Given the description of an element on the screen output the (x, y) to click on. 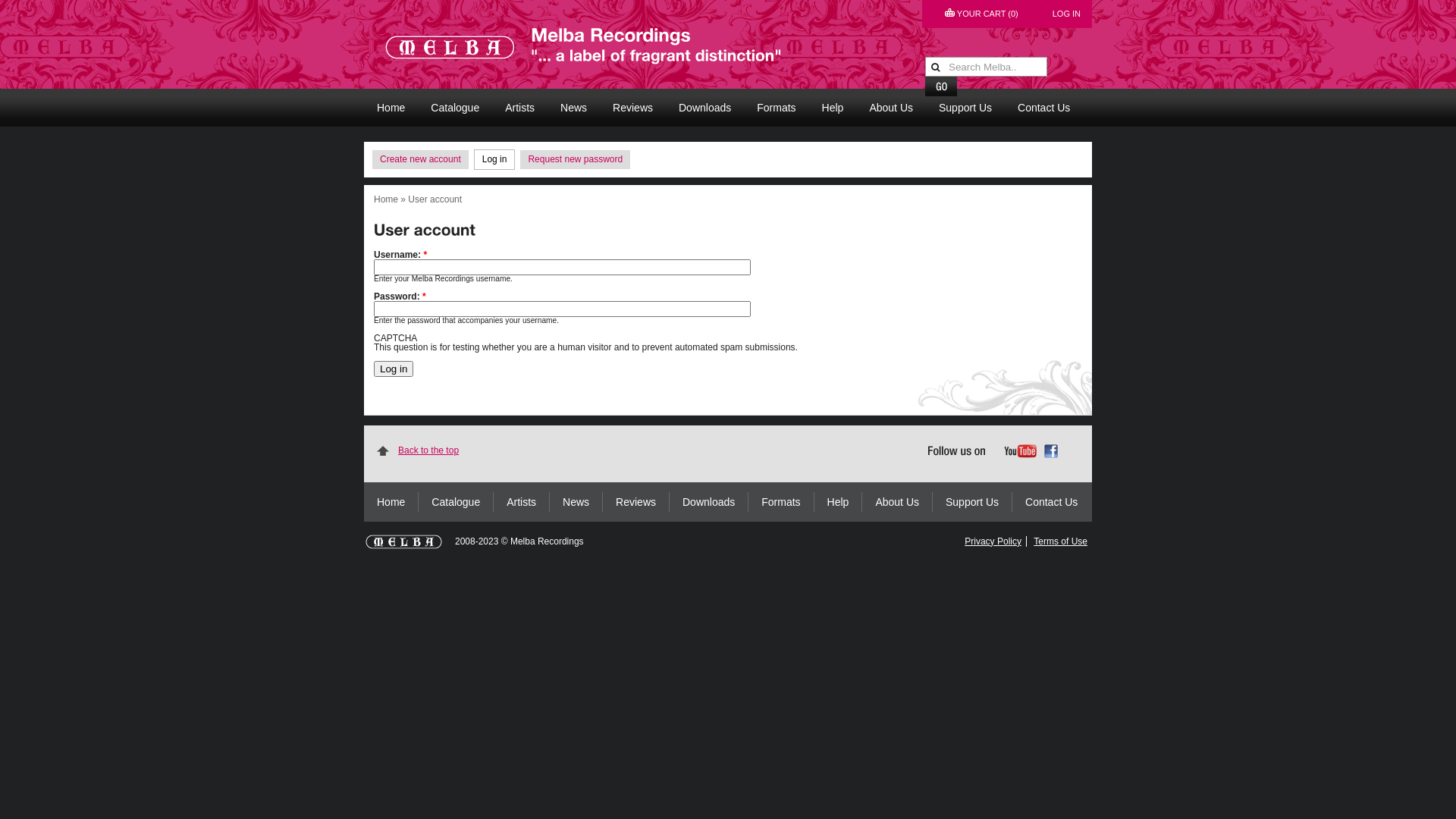
Catalogue Element type: text (454, 107)
News Element type: text (573, 107)
Contact Us Element type: text (1051, 501)
Catalogue Element type: text (455, 501)
Home Element type: text (390, 107)
YOUR CART (0) Element type: text (981, 13)
Terms of Use Element type: text (1060, 541)
Reviews Element type: text (635, 501)
Downloads Element type: text (708, 501)
Help Element type: text (838, 501)
Home Element type: text (385, 199)
About Us Element type: text (897, 501)
Back to the top Element type: text (605, 450)
LOG IN Element type: text (1066, 13)
Artists Element type: text (519, 107)
Contact Us Element type: text (1043, 107)
Privacy Policy Element type: text (992, 541)
Help Element type: text (832, 107)
Log in Element type: text (393, 368)
Downloads Element type: text (704, 107)
About Us Element type: text (890, 107)
Create new account Element type: text (420, 159)
Formats Element type: text (776, 107)
Support Us Element type: text (972, 501)
Support Us Element type: text (965, 107)
News Element type: text (575, 501)
Request new password Element type: text (574, 159)
Log in Element type: text (494, 159)
Formats Element type: text (780, 501)
Home Element type: text (391, 501)
Artists Element type: text (521, 501)
Reviews Element type: text (632, 107)
